Given the description of an element on the screen output the (x, y) to click on. 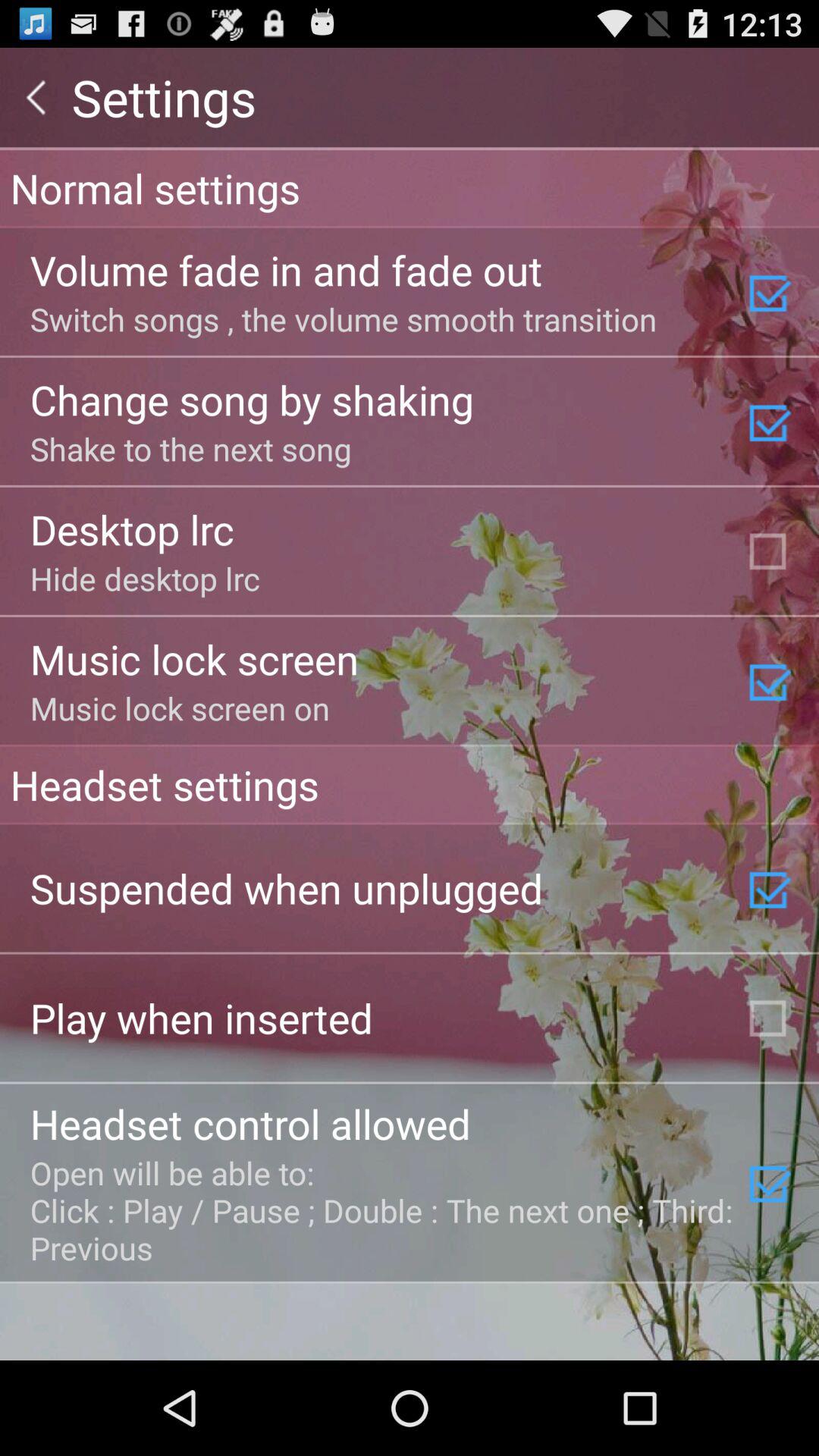
press the icon at the bottom (383, 1210)
